Given the description of an element on the screen output the (x, y) to click on. 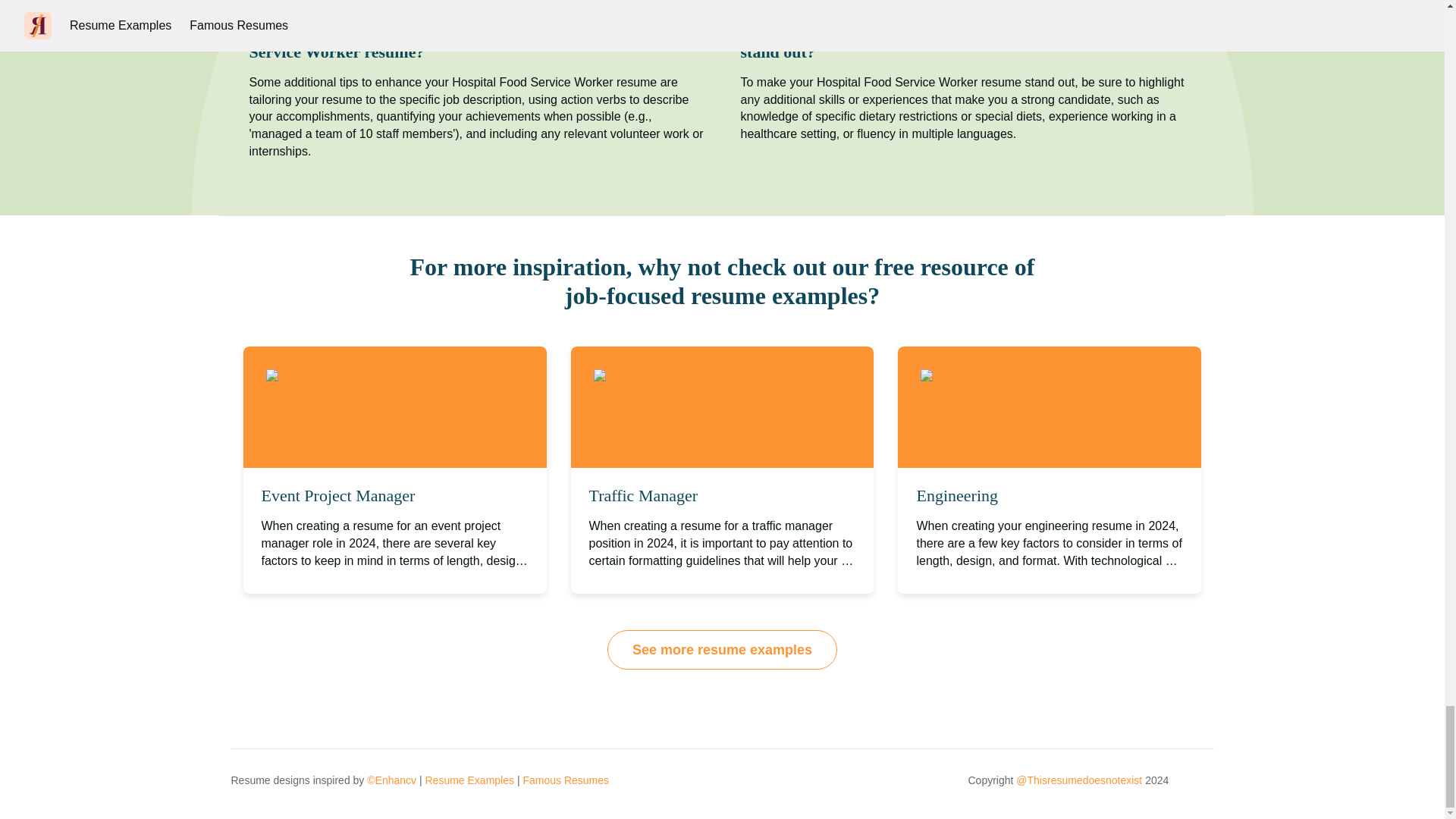
Famous Resumes (565, 779)
Resume Examples (469, 779)
Event Project Manager's resume (366, 376)
Engineering's resume (995, 376)
Traffic Manager's resume (676, 376)
See more resume examples (722, 649)
